Given the description of an element on the screen output the (x, y) to click on. 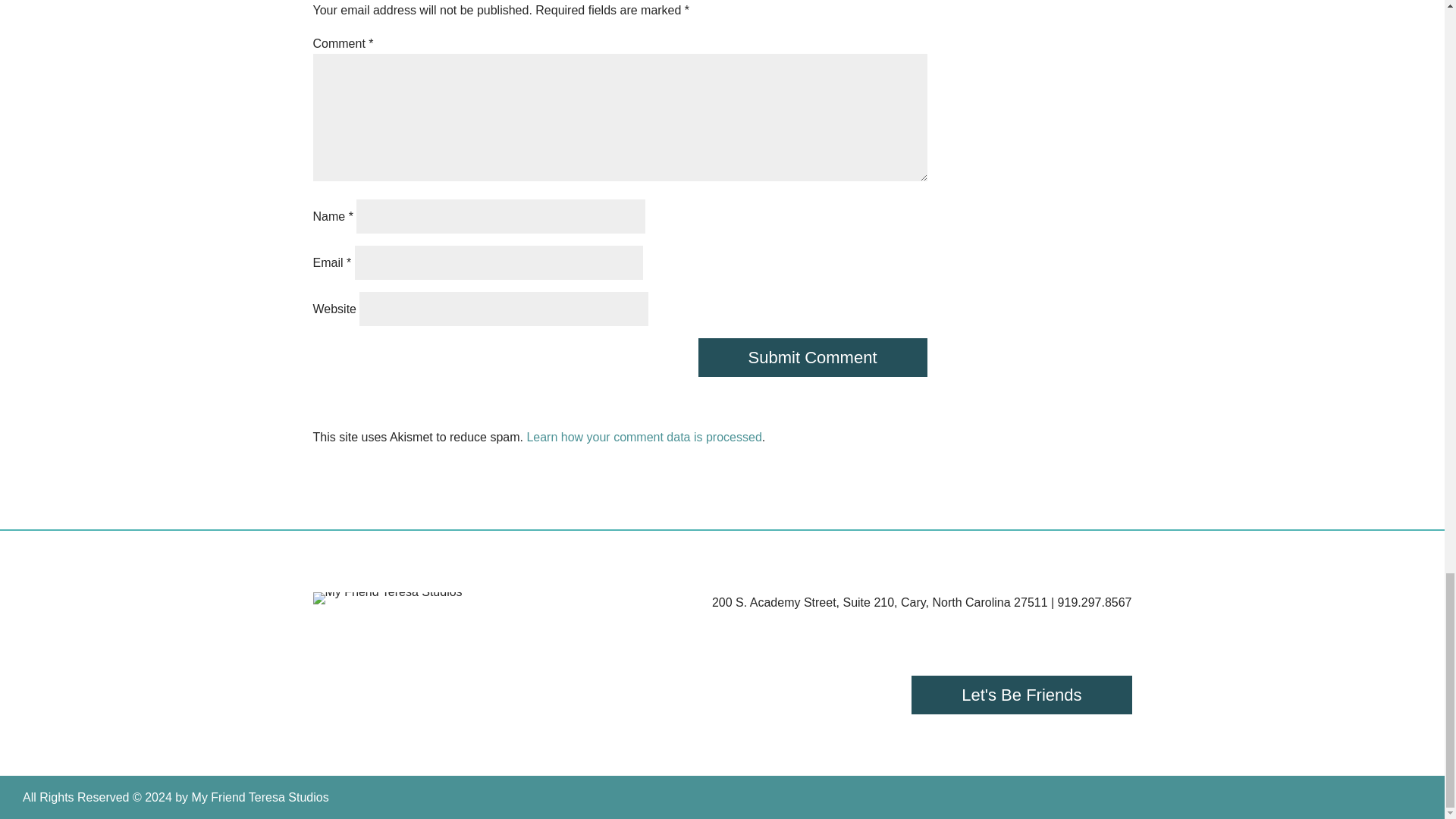
Submit Comment (812, 357)
Learn how your comment data is processed (643, 436)
Follow on Instagram (1068, 631)
Follow on Twitter (1112, 631)
Submit Comment (812, 357)
mft-studios-secondary-submark-full-color-rgb-1000px-w-72ppi (387, 598)
Follow on Facebook (1024, 631)
